Given the description of an element on the screen output the (x, y) to click on. 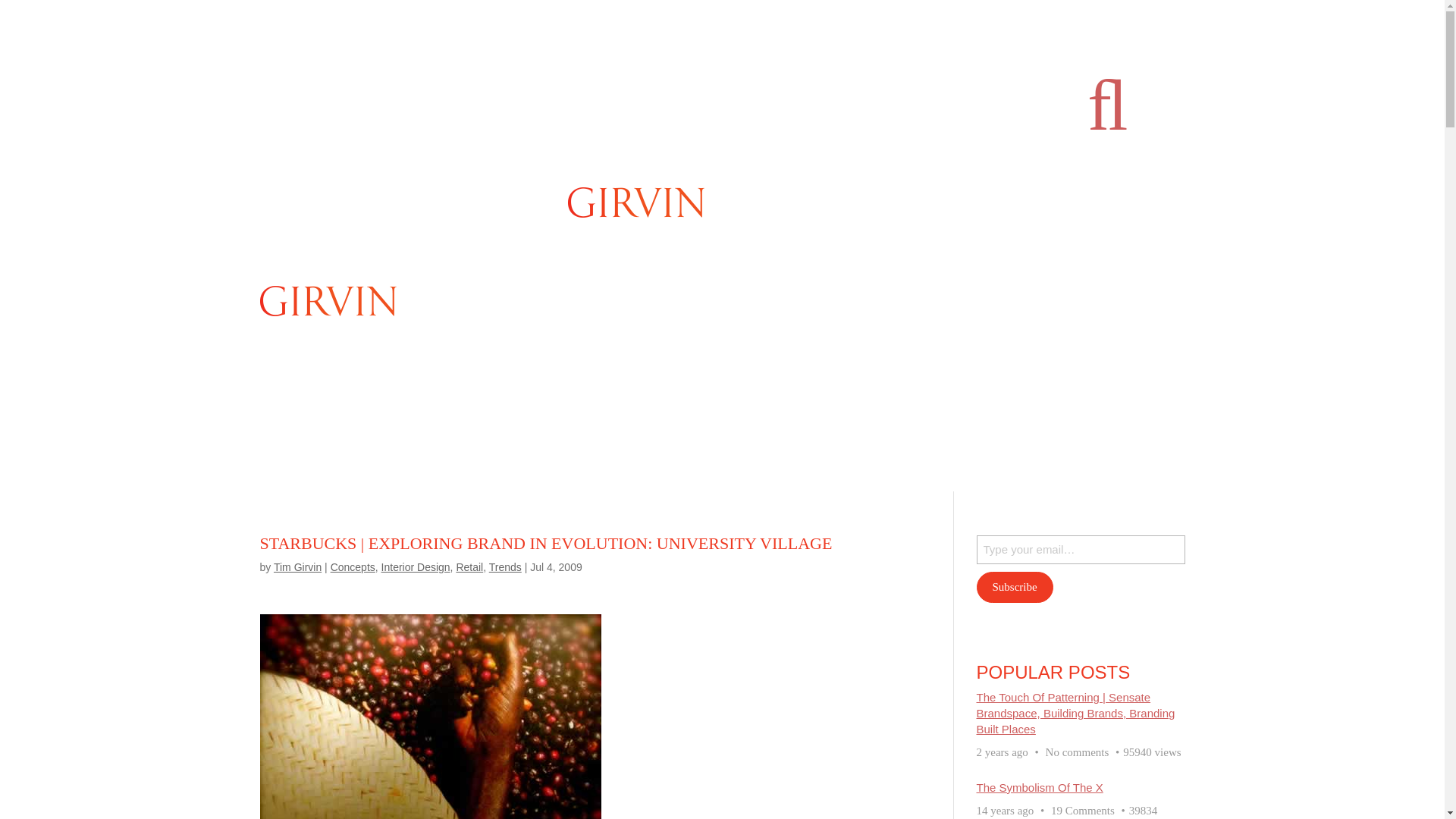
WORK (317, 201)
Posts by Tim Girvin (297, 567)
Please fill in this field. (1080, 549)
HOME (276, 277)
BLOG (1029, 201)
CONTACT (1089, 201)
CAPABILITIES (491, 277)
CLIENT LIST (395, 277)
Girvin-Logo (327, 300)
CAPABILITIES (481, 201)
WORK (328, 277)
CLIENT LIST (386, 201)
CULTURE (970, 201)
Girvin-Logo (635, 202)
